Given the description of an element on the screen output the (x, y) to click on. 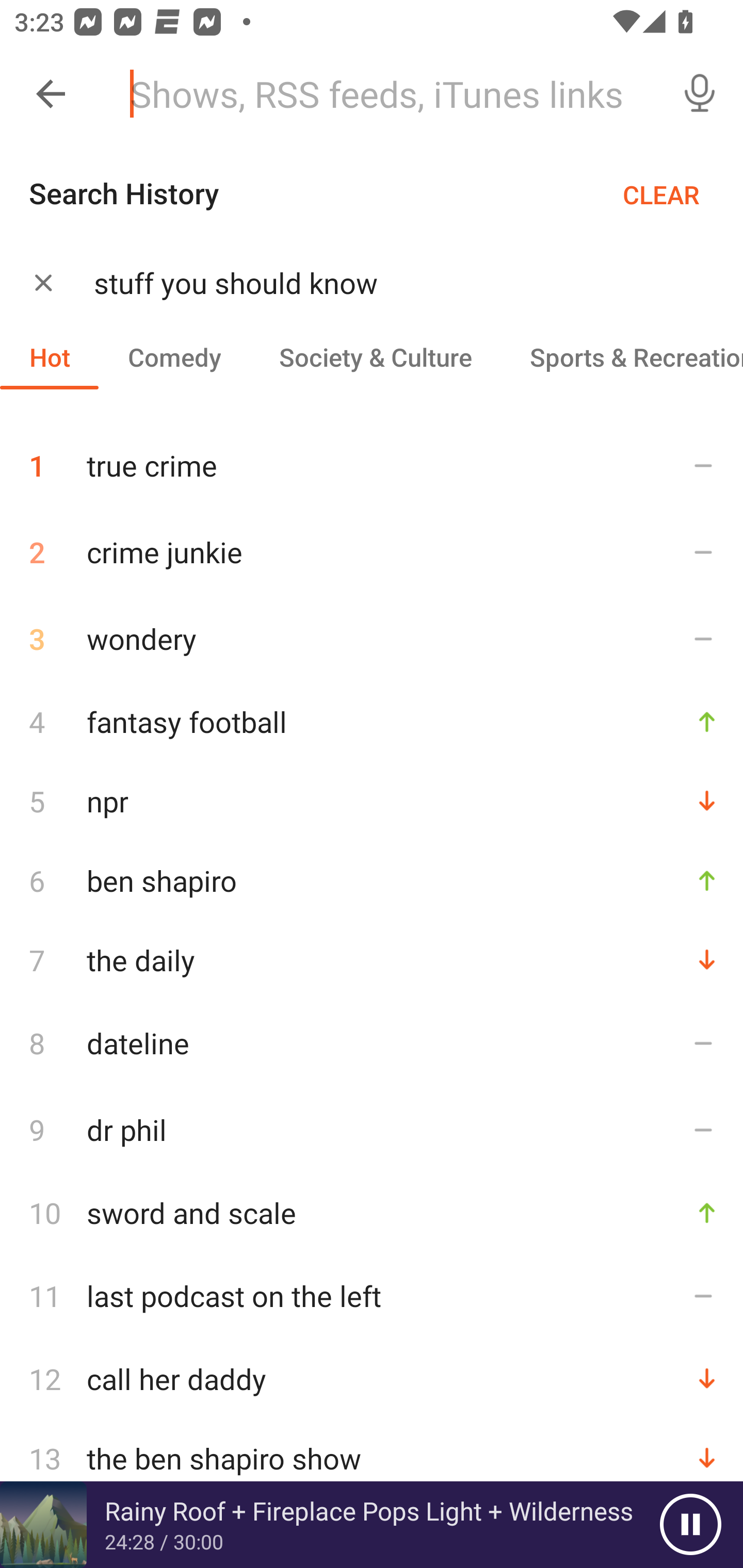
Collapse (50, 93)
Voice Search (699, 93)
Shows, RSS feeds, iTunes links (385, 94)
CLEAR (660, 194)
stuff you should know (393, 282)
 Clear (43, 282)
Hot (49, 356)
Comedy (173, 356)
Society & Culture (374, 356)
Sports & Recreation (621, 356)
1 true crime (371, 457)
2 crime junkie (371, 551)
3 wondery (371, 638)
4 fantasy football (371, 722)
5 npr (371, 801)
6 ben shapiro (371, 880)
7 the daily (371, 960)
8 dateline (371, 1043)
9 dr phil (371, 1129)
10 sword and scale (371, 1212)
11 last podcast on the left (371, 1295)
12 call her daddy (371, 1379)
13 the ben shapiro show (371, 1458)
Pause (690, 1524)
